Given the description of an element on the screen output the (x, y) to click on. 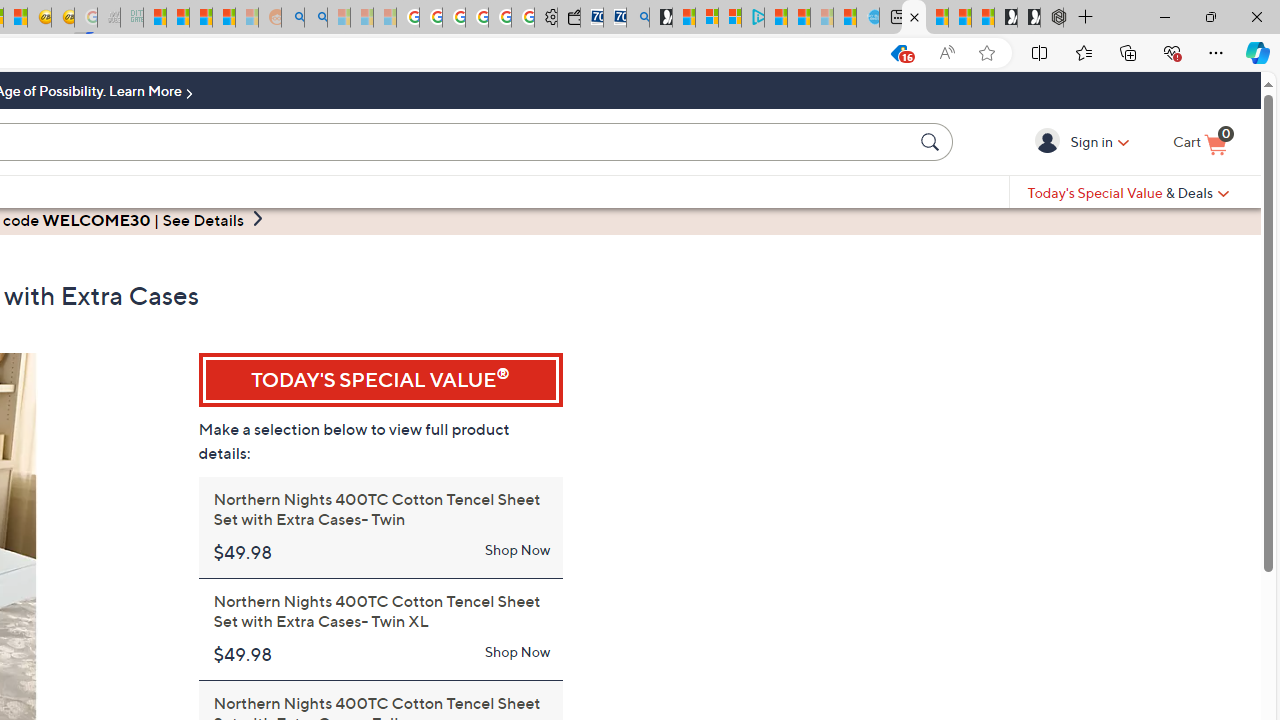
Utah sues federal government - Search (315, 17)
Enhance video (946, 53)
